Given the description of an element on the screen output the (x, y) to click on. 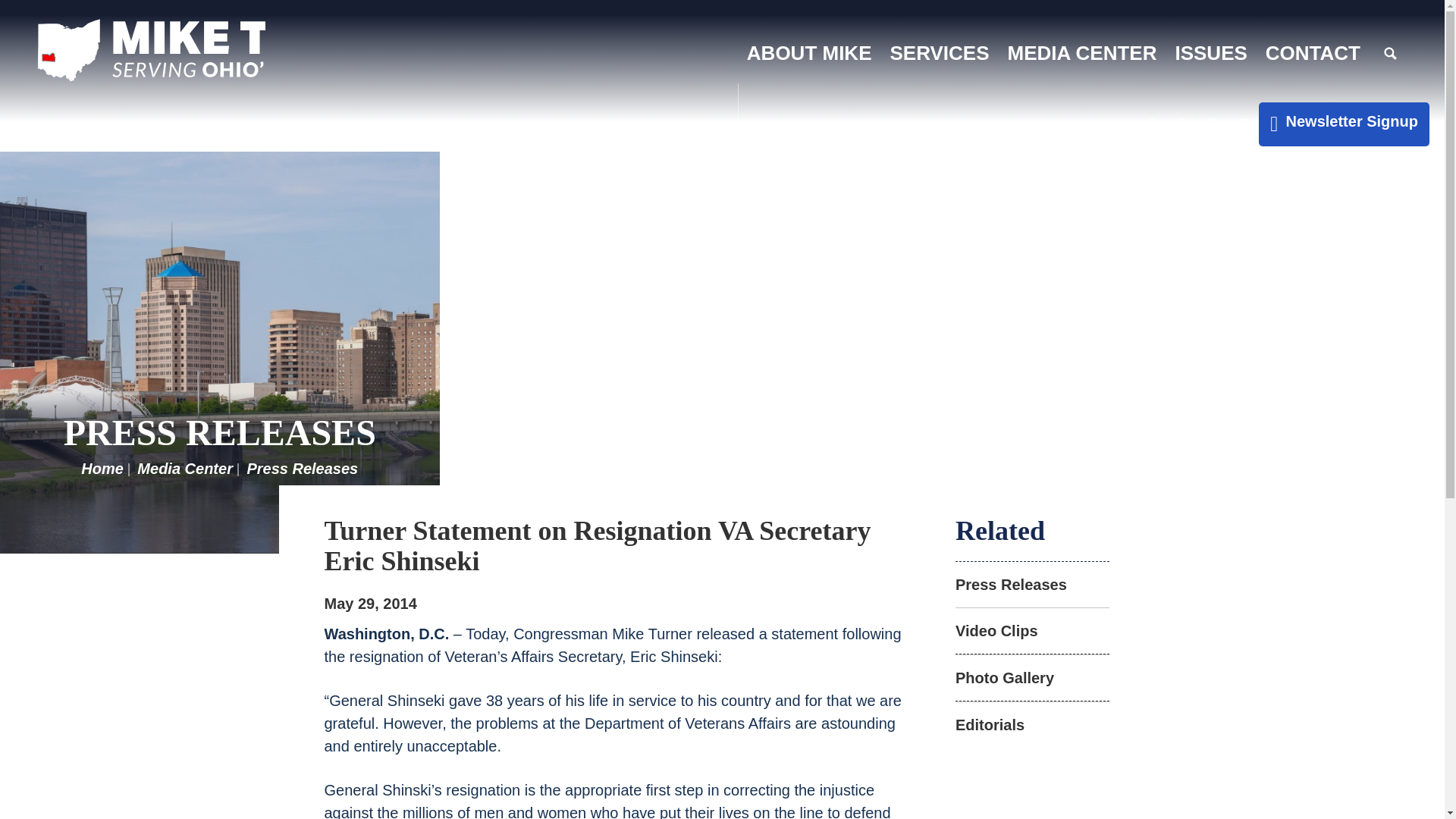
CONGRESSMAN MICHAEL TURNER (150, 50)
MEDIA CENTER (1082, 52)
ISSUES (1210, 52)
ABOUT MIKE (809, 52)
SERVICES (939, 52)
